Given the description of an element on the screen output the (x, y) to click on. 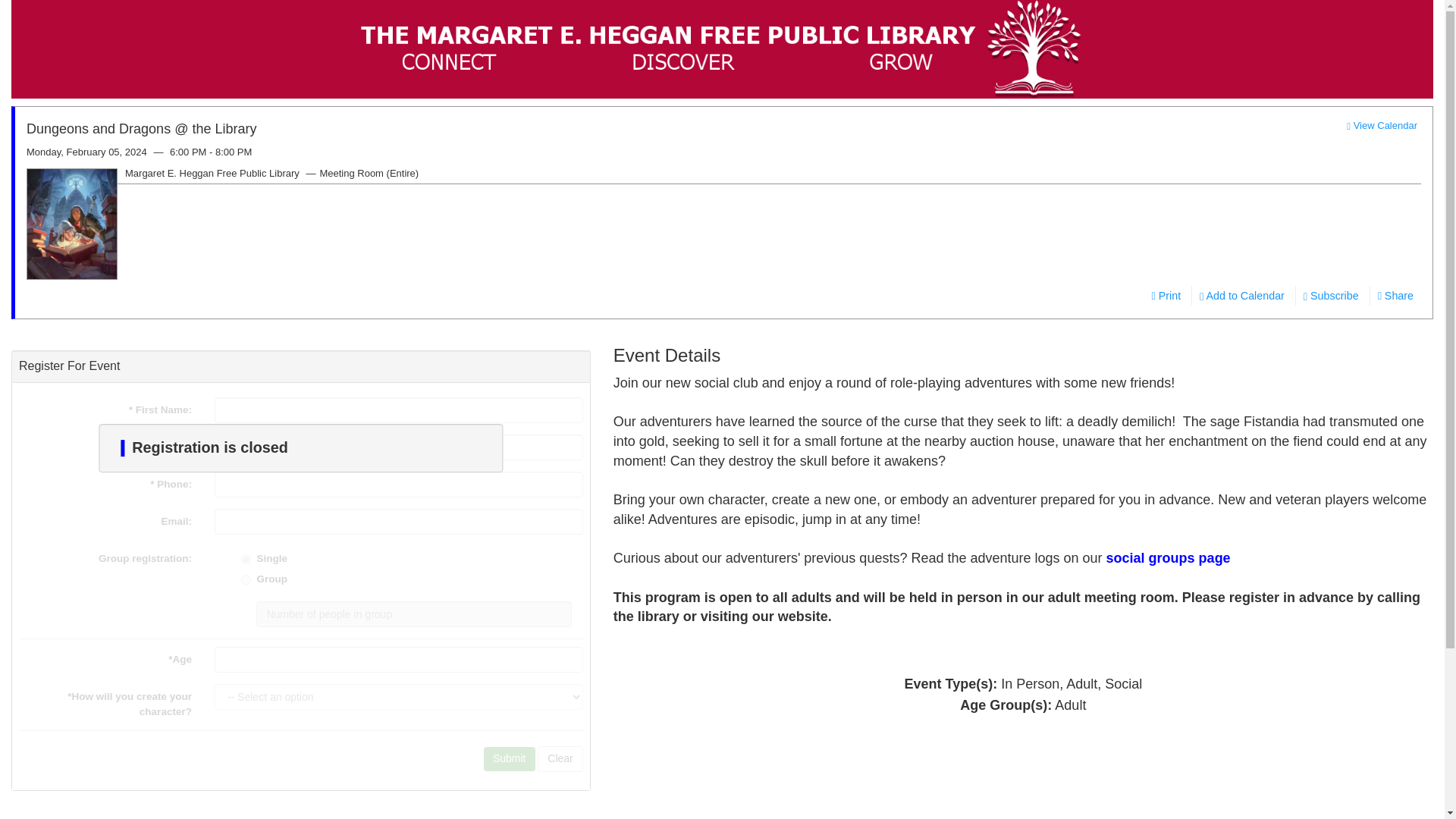
Print (1165, 295)
Add to Calendar (1241, 295)
Share (1395, 295)
Subscribe (1331, 295)
View Calendar (1381, 125)
Clear (559, 759)
social groups page (1168, 557)
single (245, 559)
Submit (509, 758)
group (245, 579)
